Given the description of an element on the screen output the (x, y) to click on. 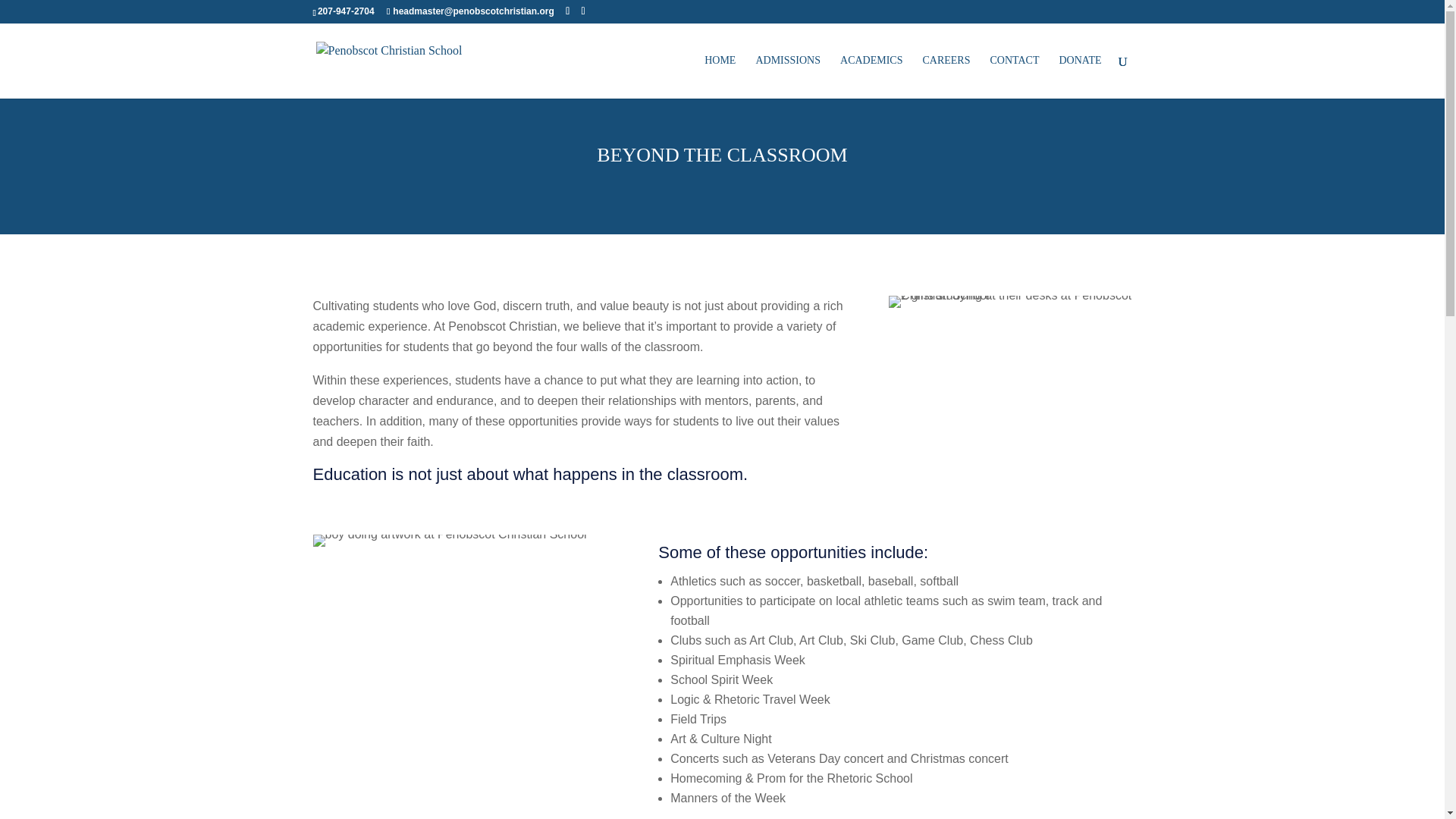
CAREERS (945, 76)
ADMISSIONS (788, 76)
boy doing artwork at Penobscot Christian School (449, 540)
CONTACT (1014, 76)
DONATE (1079, 76)
ACADEMICS (871, 76)
